Given the description of an element on the screen output the (x, y) to click on. 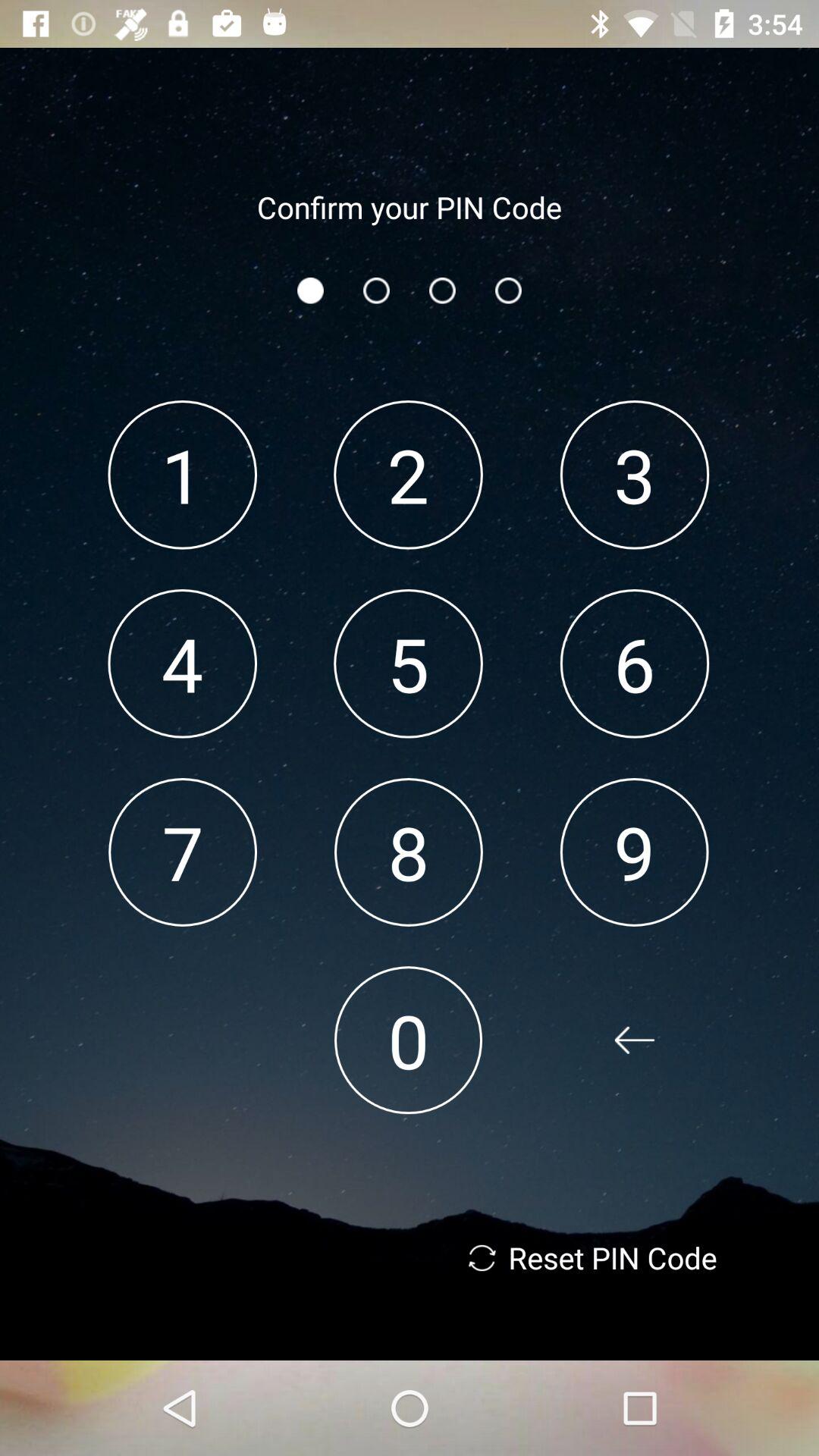
turn on 7 icon (182, 852)
